Given the description of an element on the screen output the (x, y) to click on. 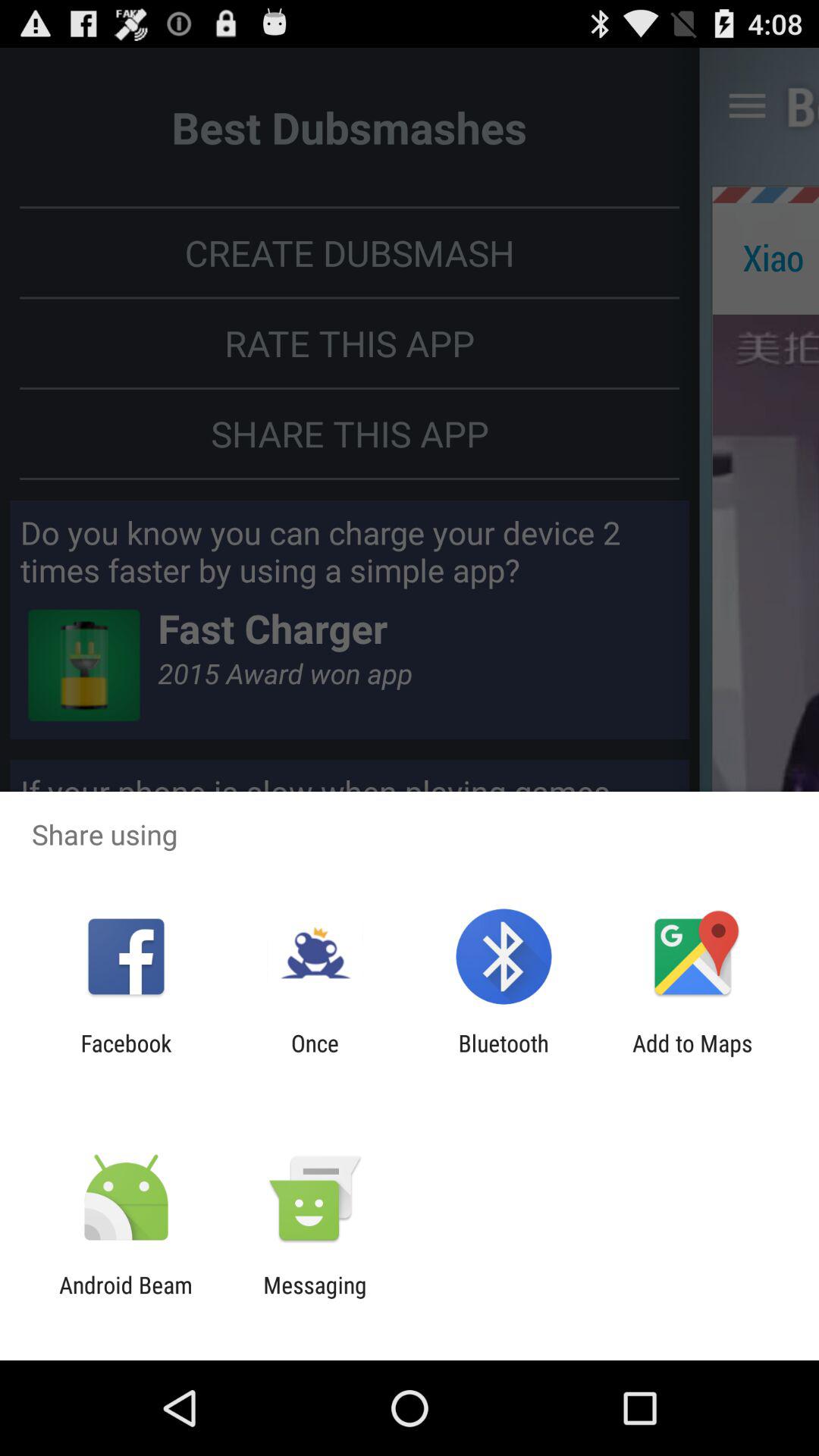
tap the icon next to the messaging app (125, 1298)
